Given the description of an element on the screen output the (x, y) to click on. 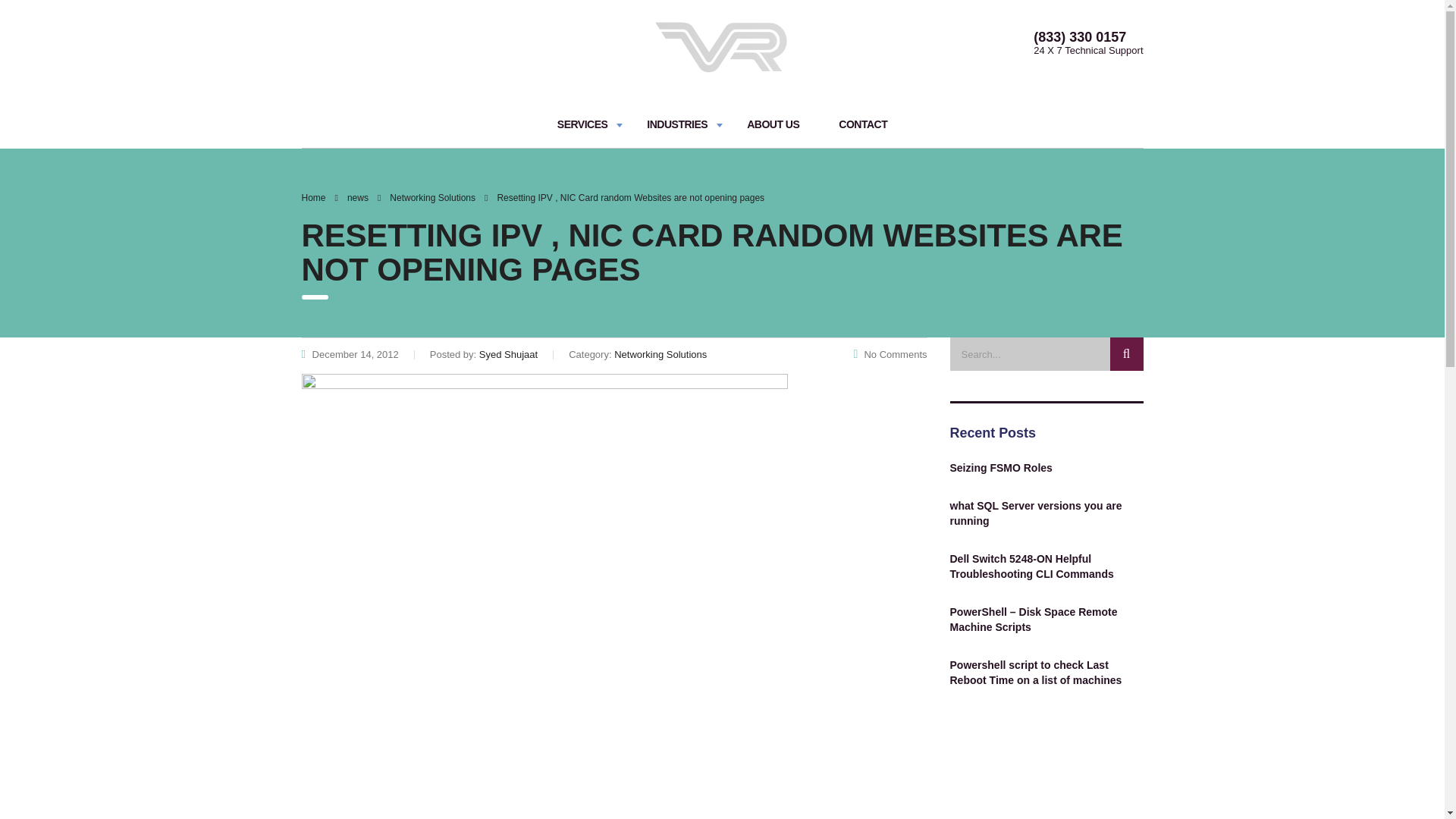
INDUSTRIES (676, 124)
Go to Virtual Remote Networking. (313, 197)
news (357, 197)
Go to news. (357, 197)
Go to the Networking Solutions category archives. (433, 197)
CONTACT (862, 124)
SERVICES (582, 124)
Networking Solutions (433, 197)
ABOUT US (772, 124)
No Comments (890, 354)
Home (313, 197)
